Given the description of an element on the screen output the (x, y) to click on. 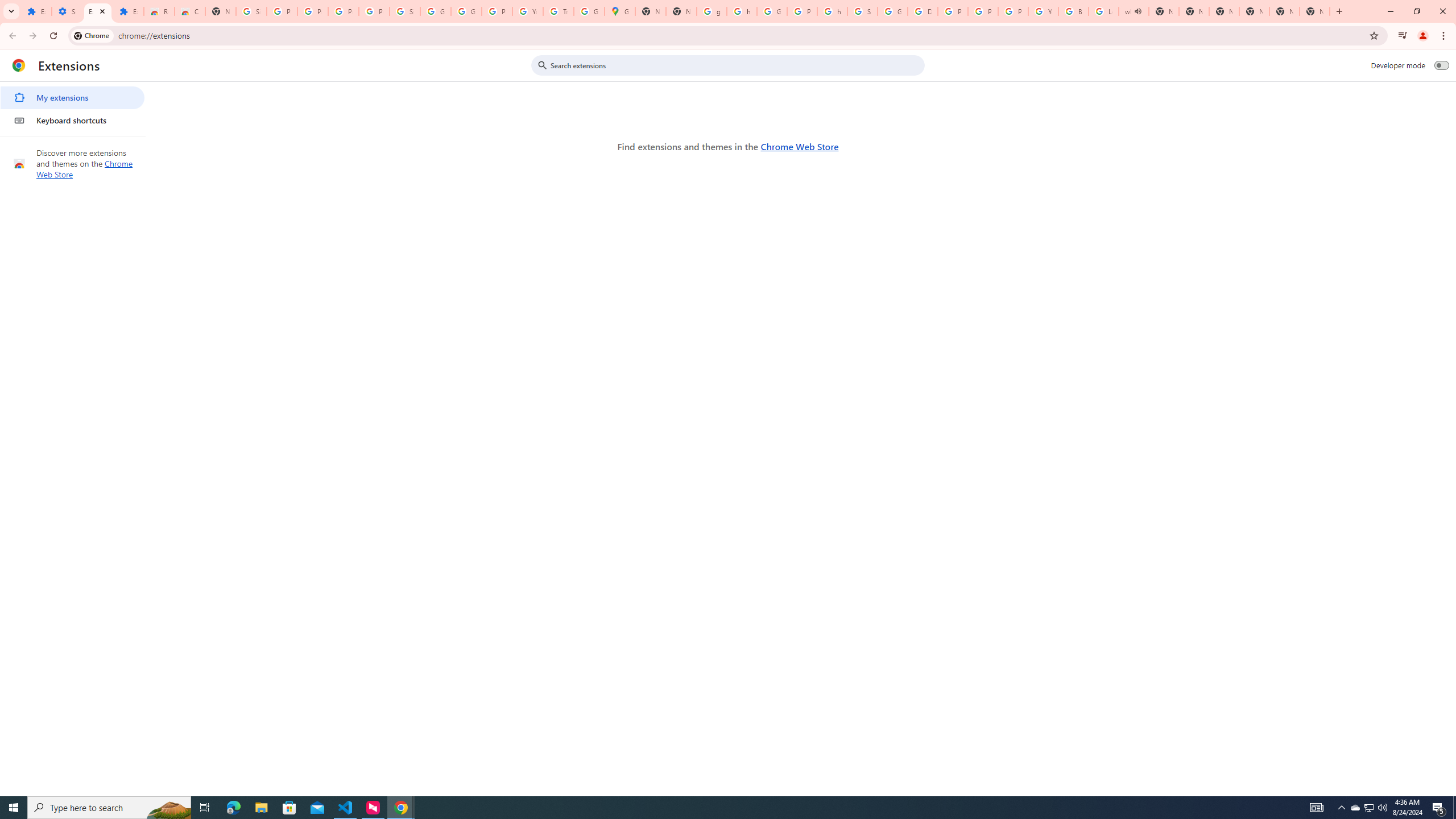
New Tab (1314, 11)
https://scholar.google.com/ (832, 11)
YouTube (527, 11)
Settings (66, 11)
Reviews: Helix Fruit Jump Arcade Game (158, 11)
